Given the description of an element on the screen output the (x, y) to click on. 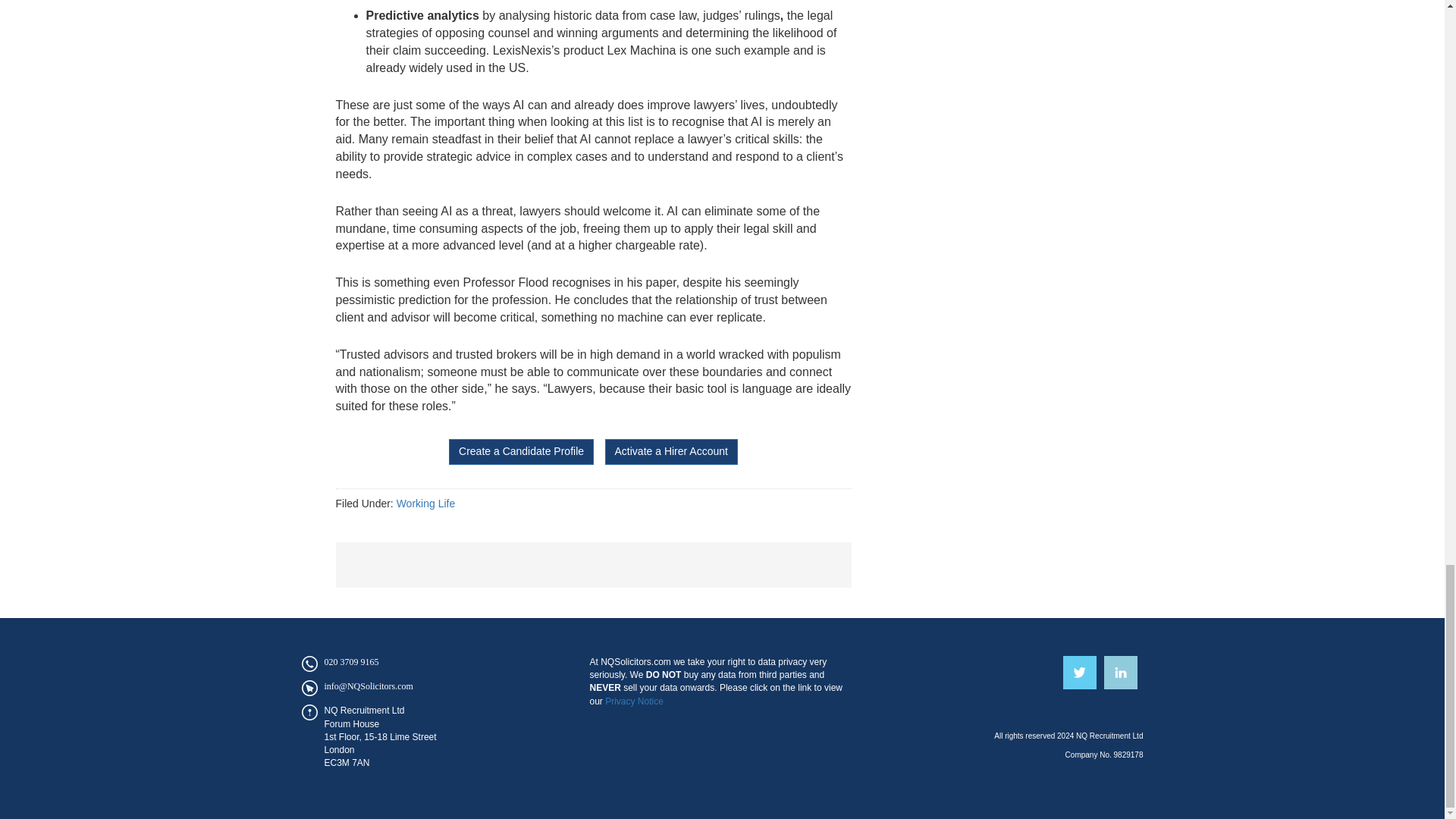
Privacy Notice (634, 701)
020 3709 9165 (351, 661)
Create a Candidate Profile (521, 451)
Activate a Hirer Account (671, 451)
Working Life (425, 503)
